Given the description of an element on the screen output the (x, y) to click on. 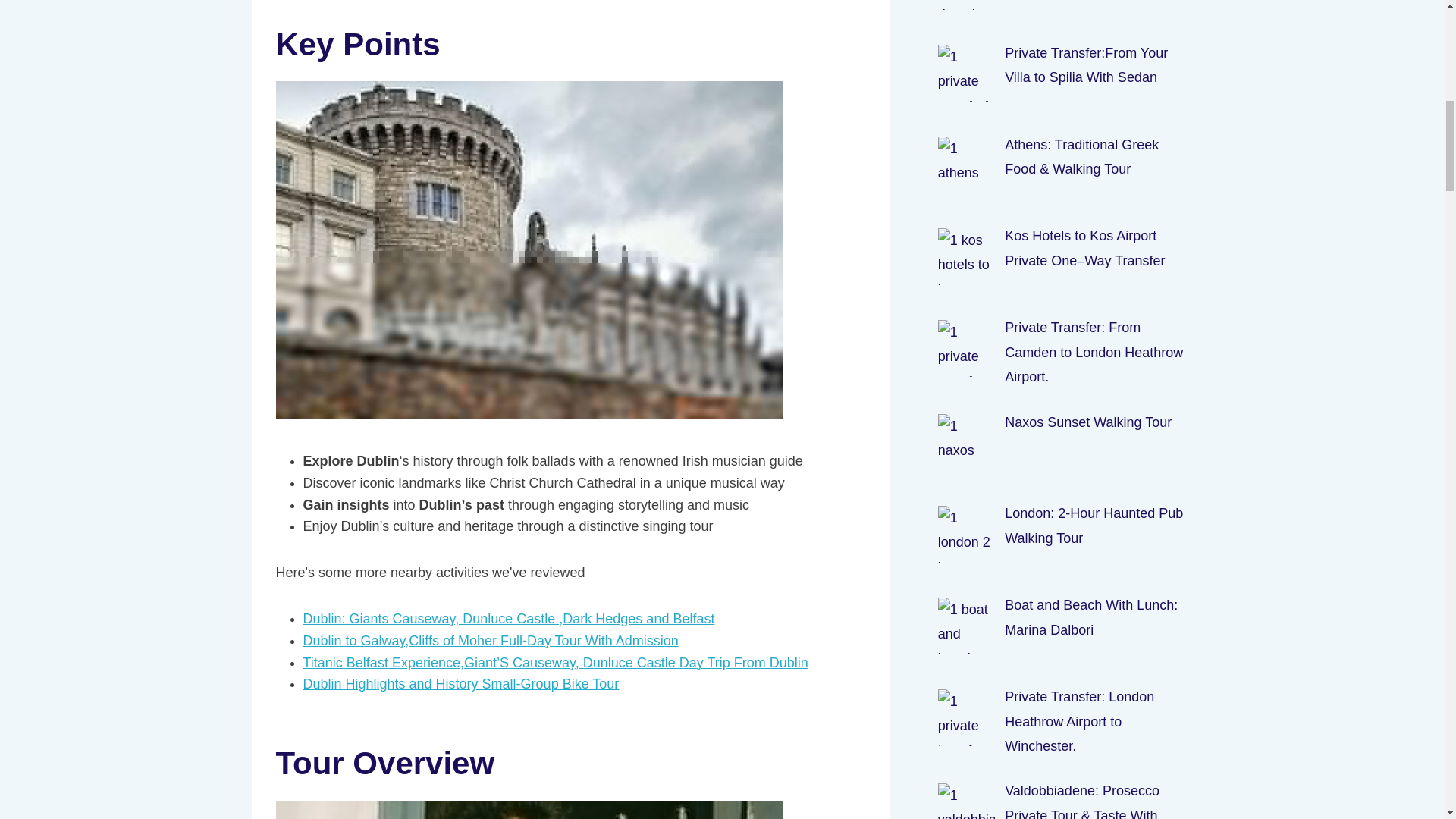
Dublin Highlights and History Small-Group Bike Tour (461, 683)
